Given the description of an element on the screen output the (x, y) to click on. 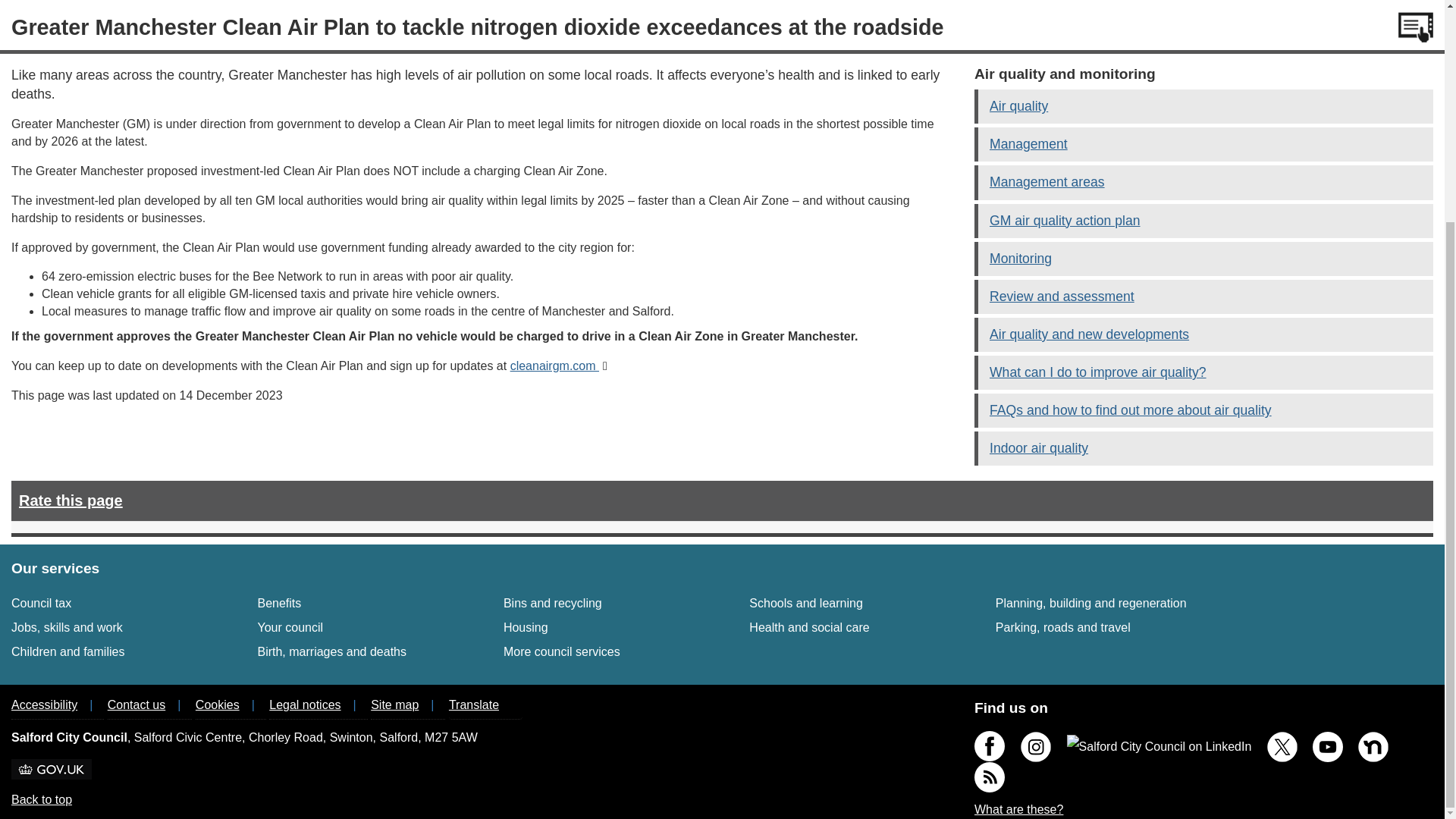
GM air quality action plan (290, 626)
What can I do to improve air quality? (279, 603)
Air quality and new developments (1065, 220)
Monitoring (805, 603)
